Given the description of an element on the screen output the (x, y) to click on. 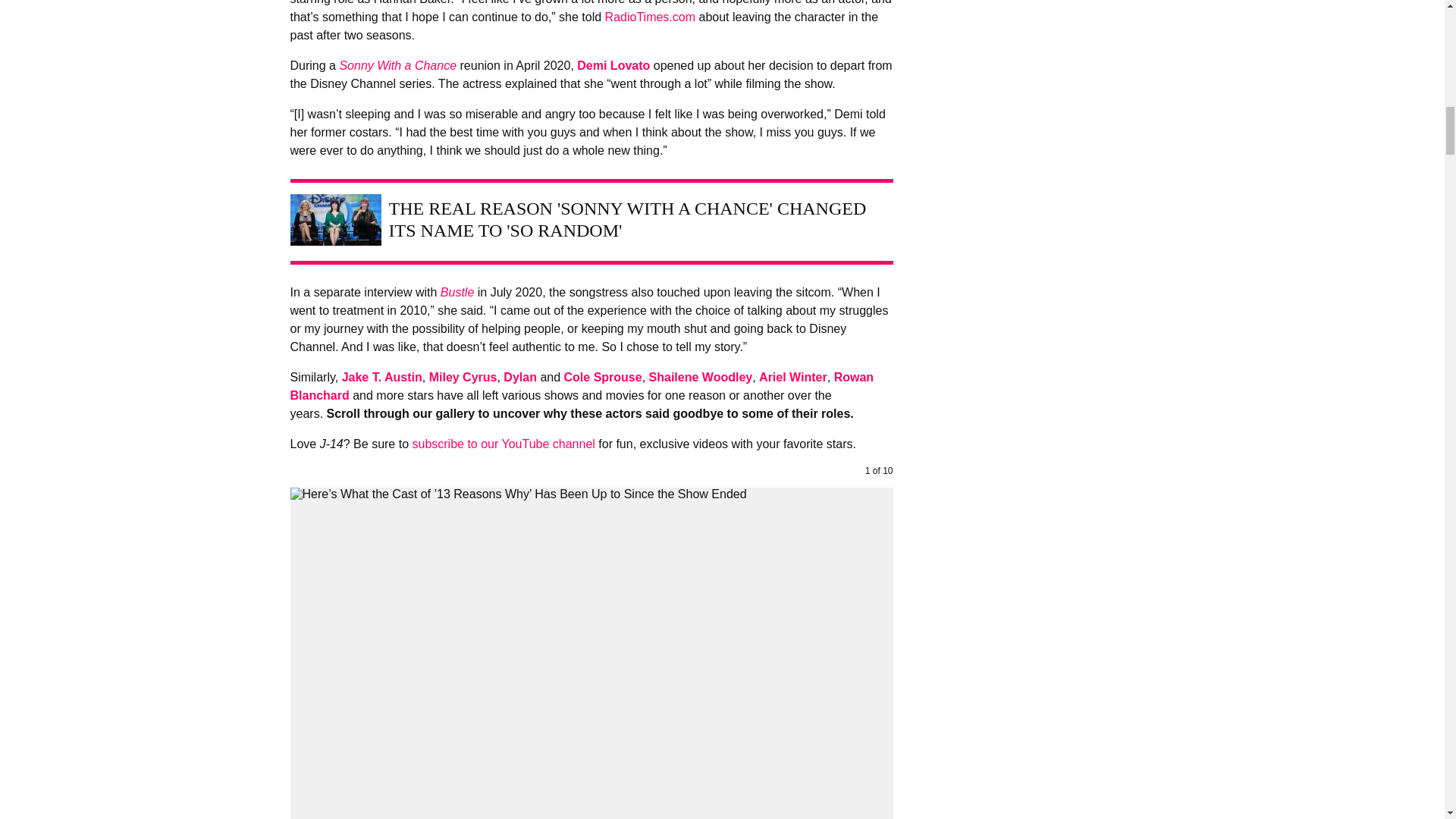
Cole Sprouse (603, 377)
Jake T. Austin (382, 377)
RadioTimes.com (650, 16)
Demi Lovato (612, 65)
Chance (435, 65)
Rowan Blanchard (581, 386)
Shailene Woodley (700, 377)
subscribe to our YouTube channel (503, 443)
Ariel Winter (792, 377)
